Given the description of an element on the screen output the (x, y) to click on. 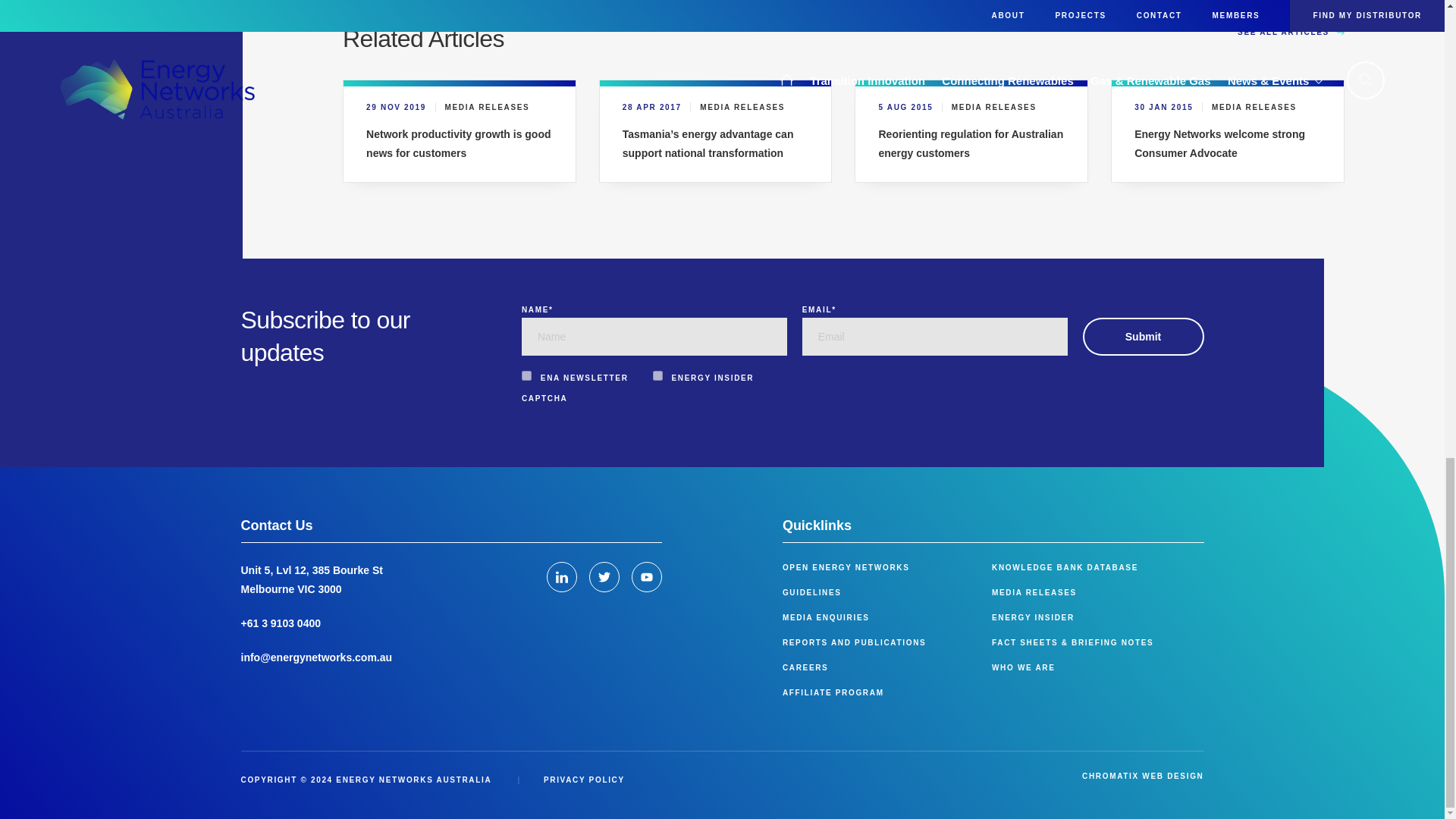
ENA Newsletter (526, 375)
Energy Insider (657, 375)
